Given the description of an element on the screen output the (x, y) to click on. 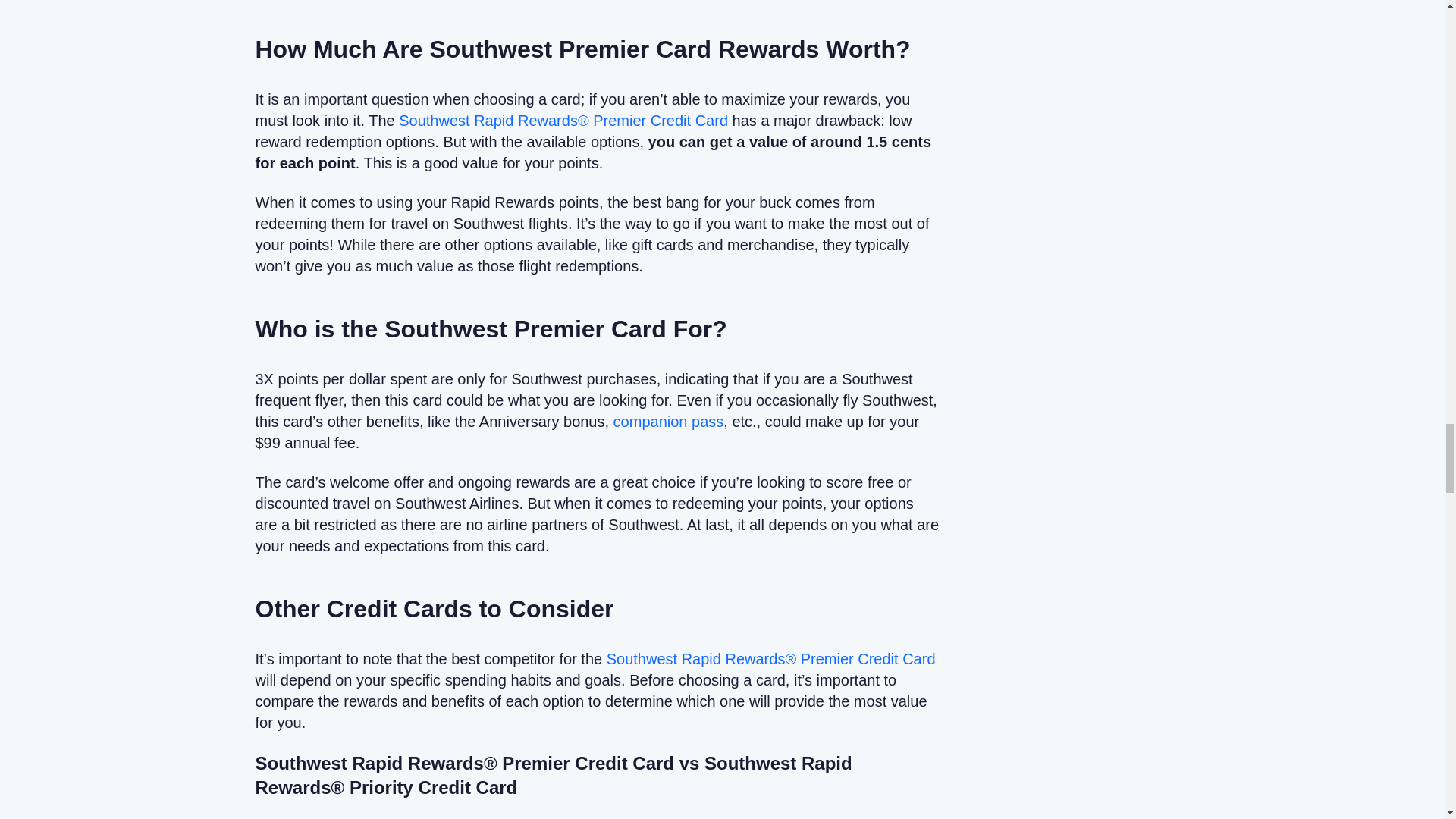
companion pass (667, 421)
